Given the description of an element on the screen output the (x, y) to click on. 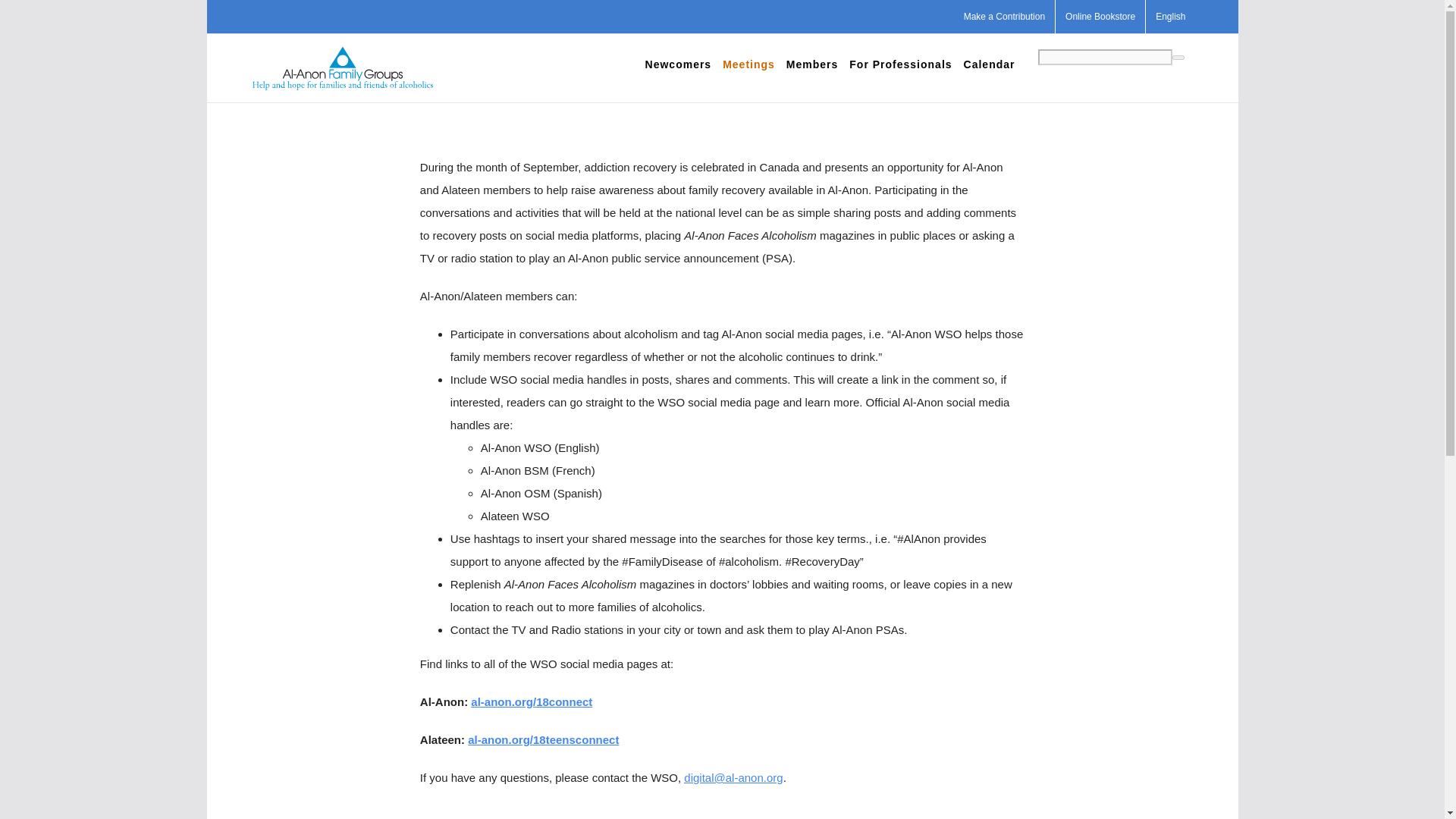
English (1170, 16)
Online Bookstore (1099, 16)
English (1170, 16)
Newcomers (678, 64)
Meetings (748, 64)
Members (812, 64)
Make a Contribution (1003, 16)
